Given the description of an element on the screen output the (x, y) to click on. 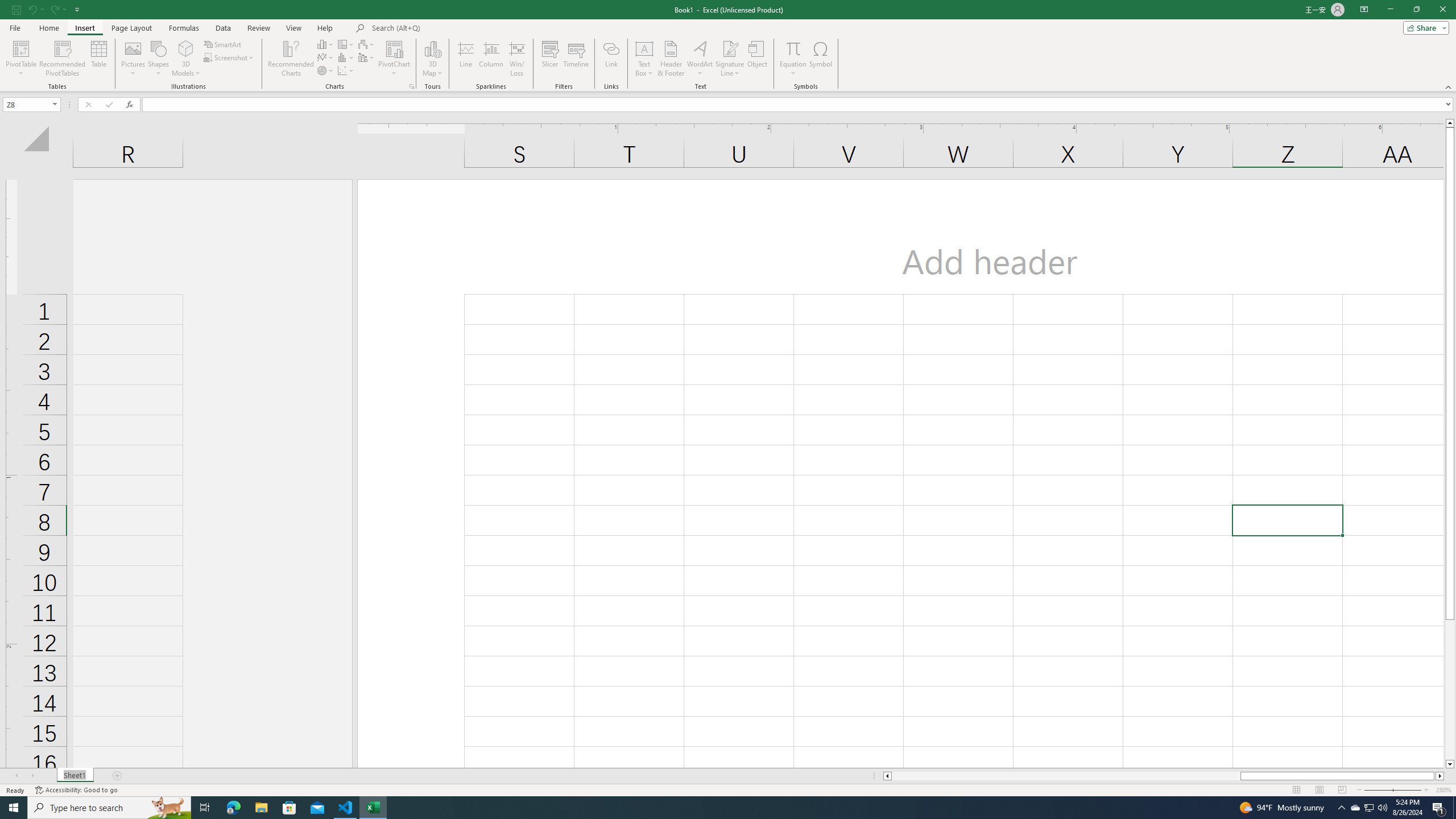
Insert Hierarchy Chart (346, 44)
PivotChart (394, 58)
SmartArt... (223, 44)
Symbol... (821, 58)
Text Box (643, 58)
Insert Pie or Doughnut Chart (325, 69)
Link (611, 58)
